Given the description of an element on the screen output the (x, y) to click on. 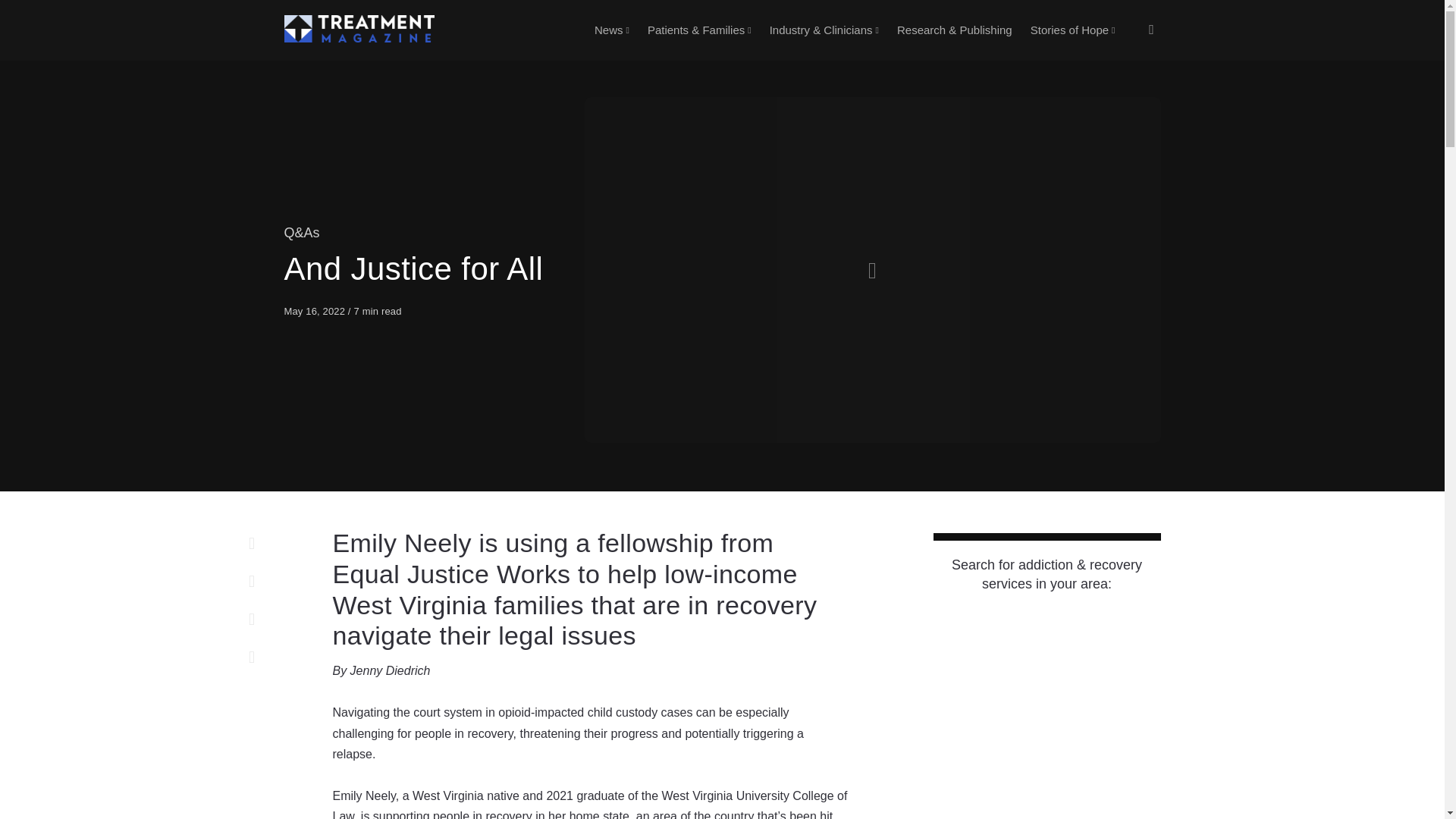
May 16, 2022 (315, 310)
May 16, 2022 (315, 310)
Stories of Hope (1073, 30)
